Given the description of an element on the screen output the (x, y) to click on. 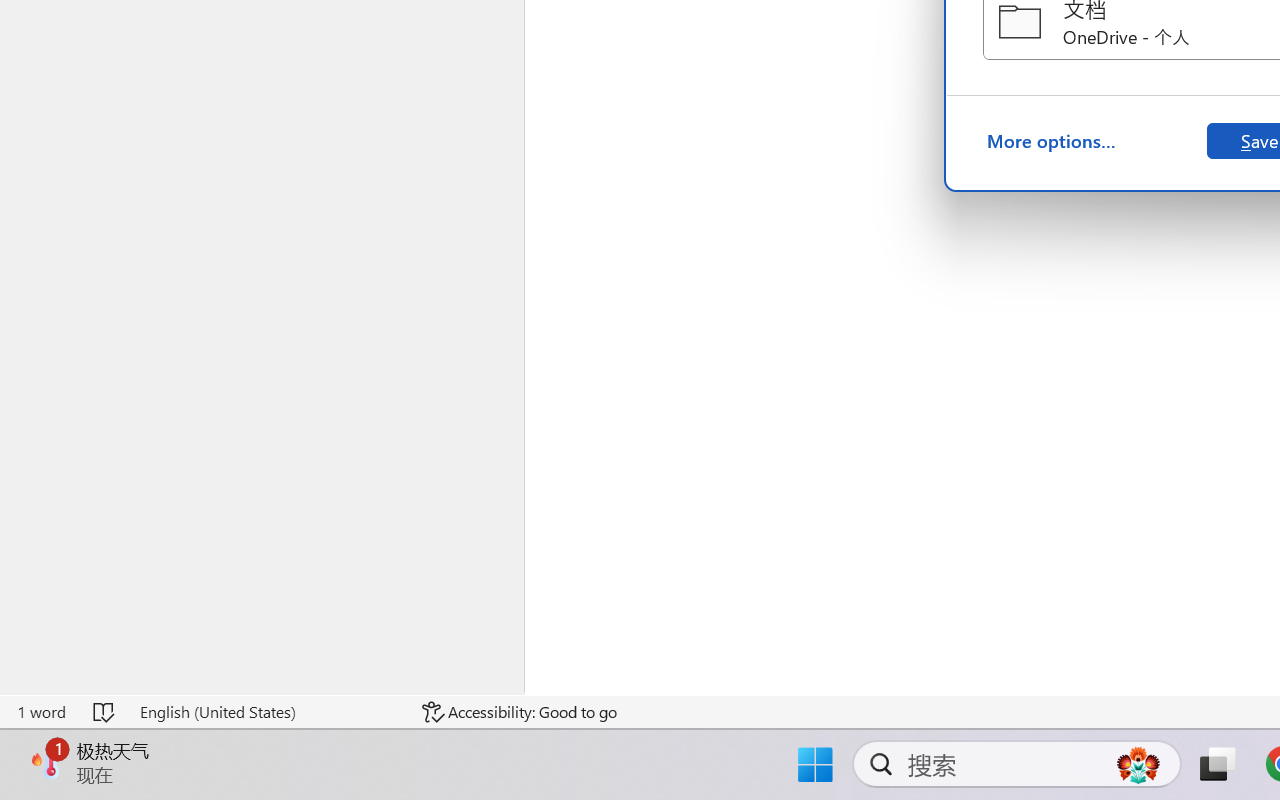
Accessibility Checker Accessibility: Good to go (519, 712)
Word Count 1 word (41, 712)
Spelling and Grammar Check No Errors (105, 712)
Language English (United States) (267, 712)
AutomationID: BadgeAnchorLargeTicker (46, 762)
